Given the description of an element on the screen output the (x, y) to click on. 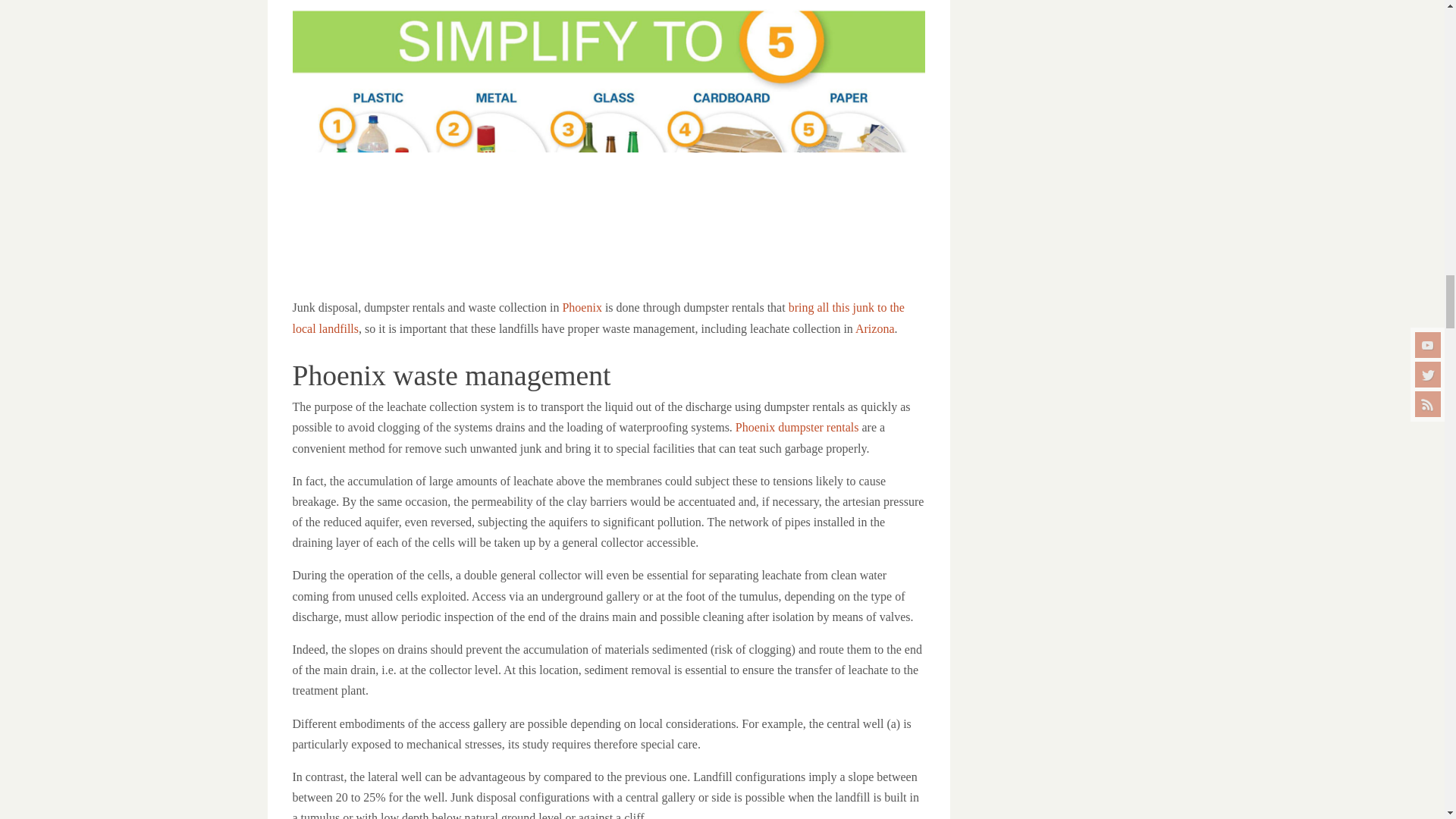
Phoenix dumpster rentals (797, 427)
bring all this junk to the local landfills (598, 317)
Phoenix (581, 307)
Arizona (875, 328)
